Given the description of an element on the screen output the (x, y) to click on. 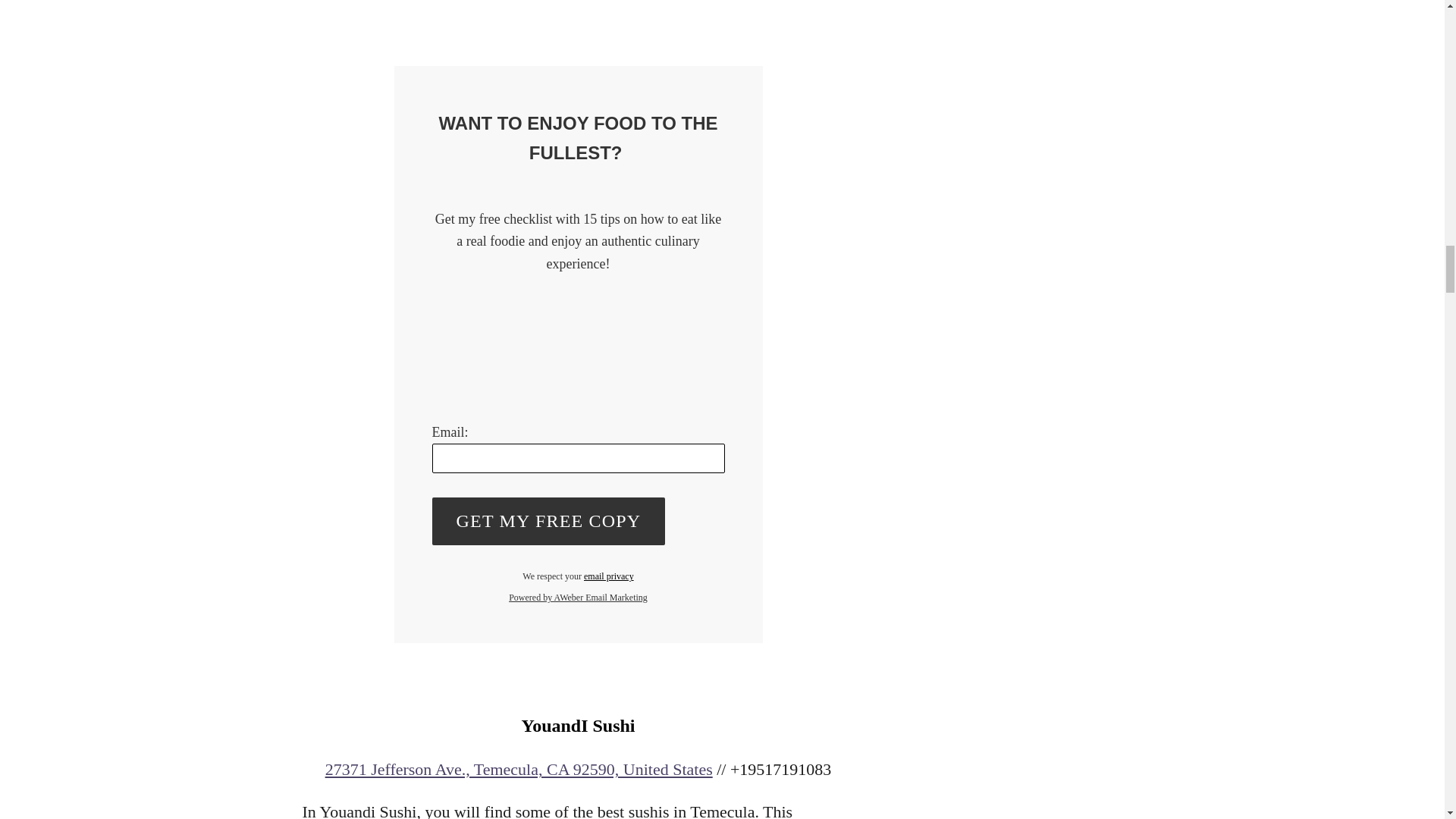
GET MY FREE COPY (548, 521)
AWeber Email Marketing (577, 597)
Privacy Policy (608, 575)
